Given the description of an element on the screen output the (x, y) to click on. 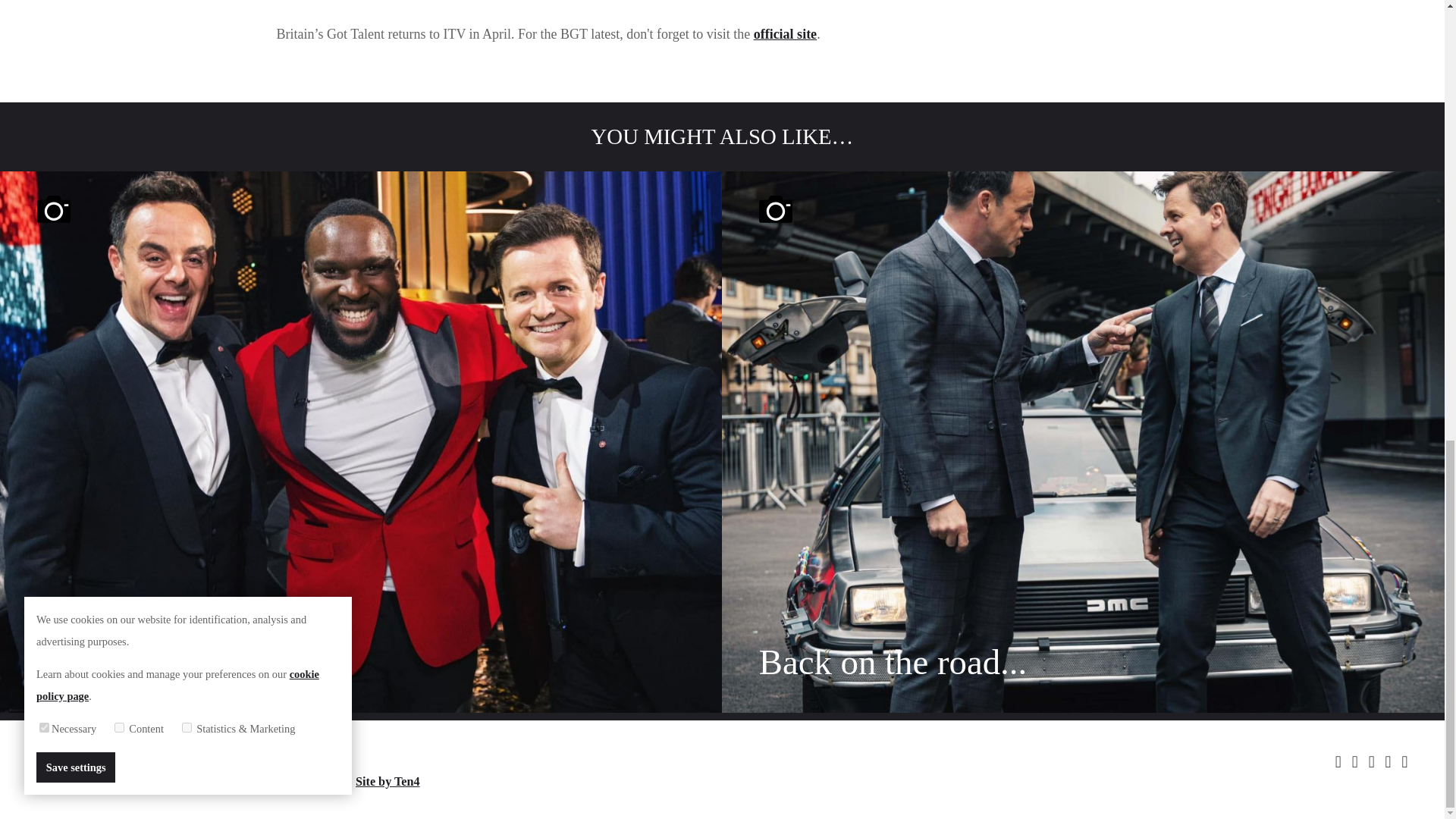
Terms (145, 781)
Cookie Policy (303, 781)
official site (785, 33)
Site by Ten4 (387, 781)
Privacy Policy (214, 781)
Download Autograph (202, 757)
